Given the description of an element on the screen output the (x, y) to click on. 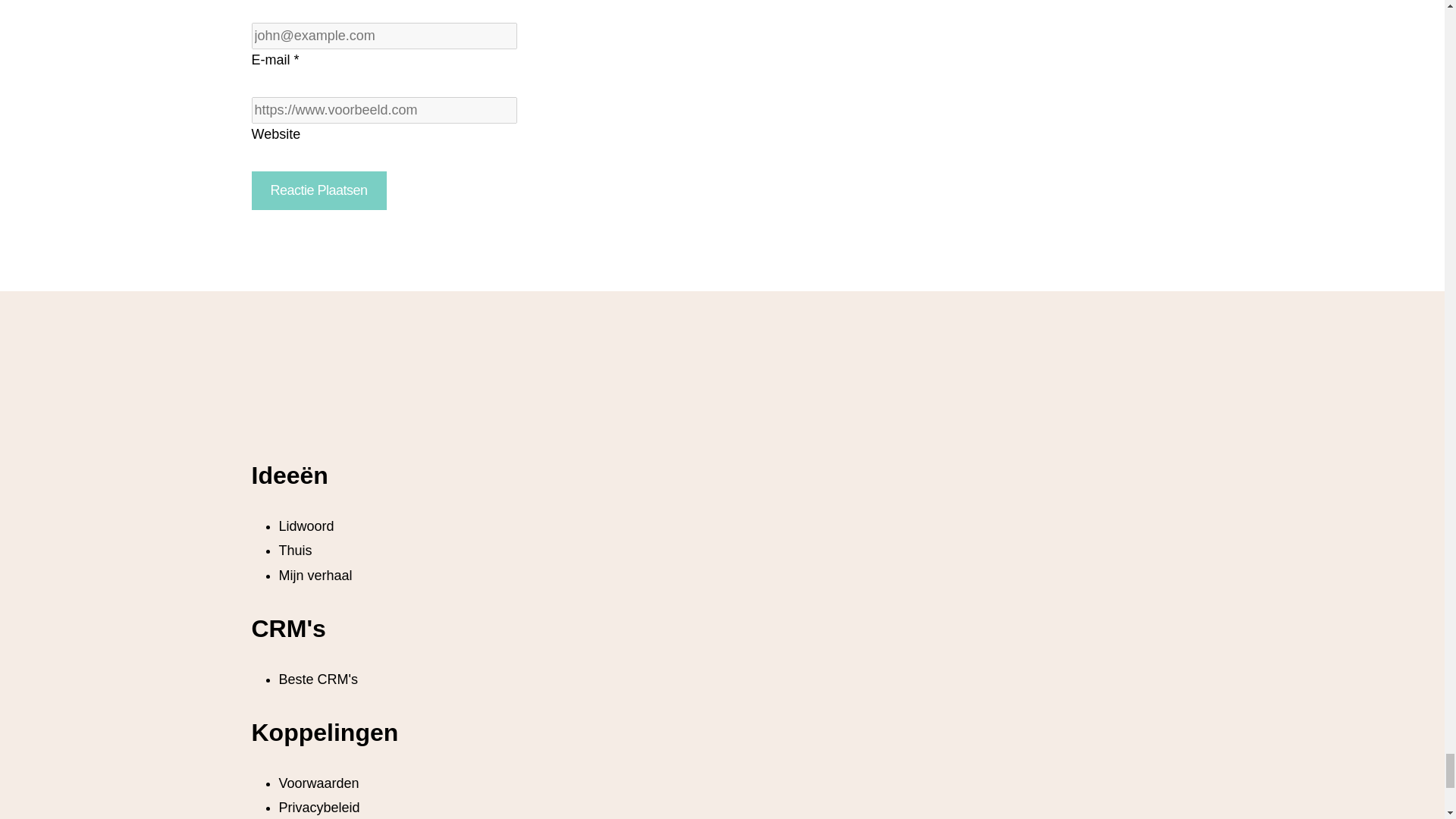
Reactie plaatsen (319, 190)
